Given the description of an element on the screen output the (x, y) to click on. 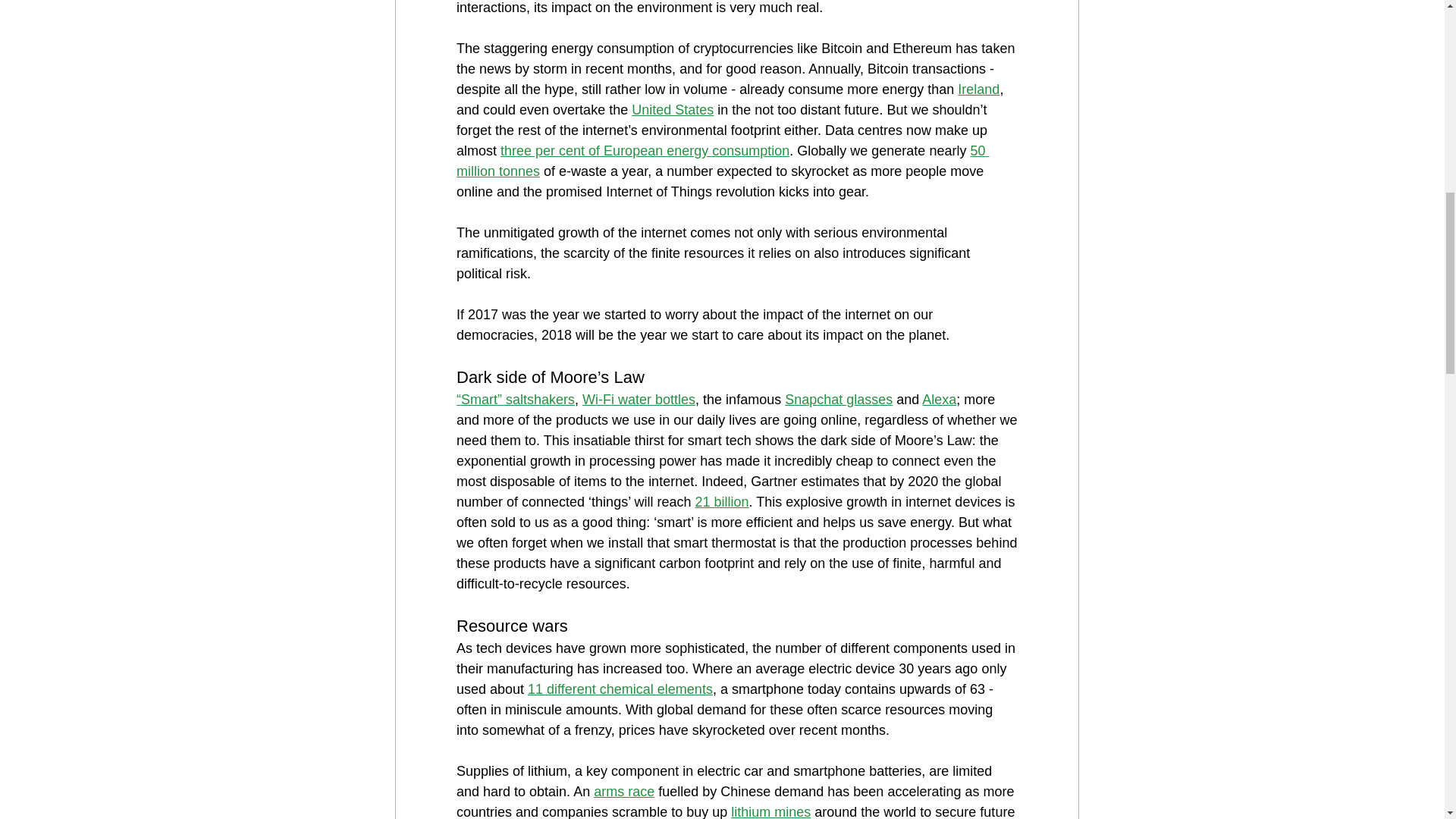
Wi-Fi water bottles (638, 399)
21 billion (721, 501)
50 million tonnes (722, 161)
United States (672, 109)
arms race (623, 791)
Ireland (978, 89)
lithium mines (770, 811)
Snapchat glasses (838, 399)
Alexa (938, 399)
11 different chemical elements (620, 688)
three per cent of European energy consumption (644, 150)
